Given the description of an element on the screen output the (x, y) to click on. 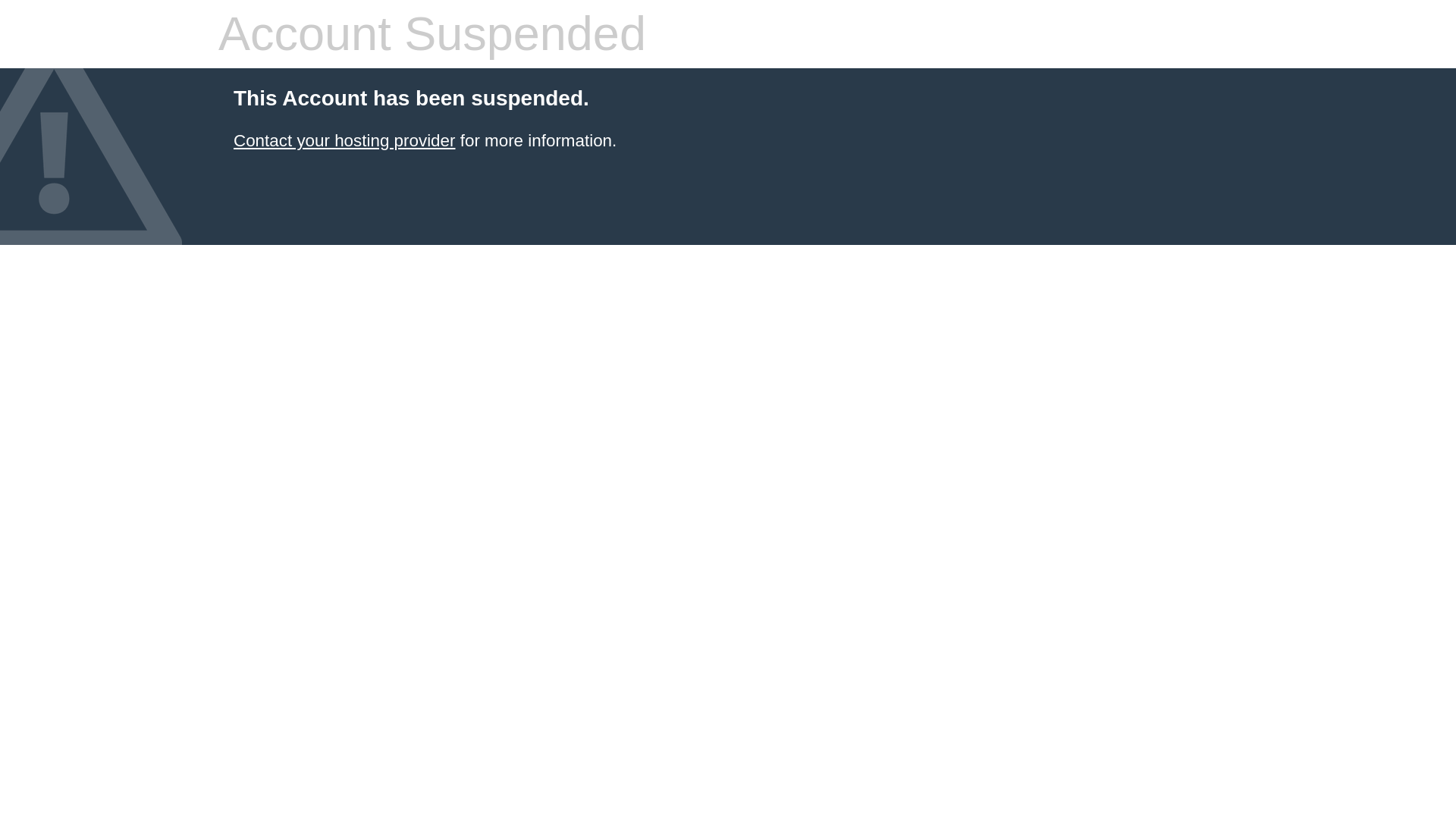
Contact your hosting provider (343, 140)
